Given the description of an element on the screen output the (x, y) to click on. 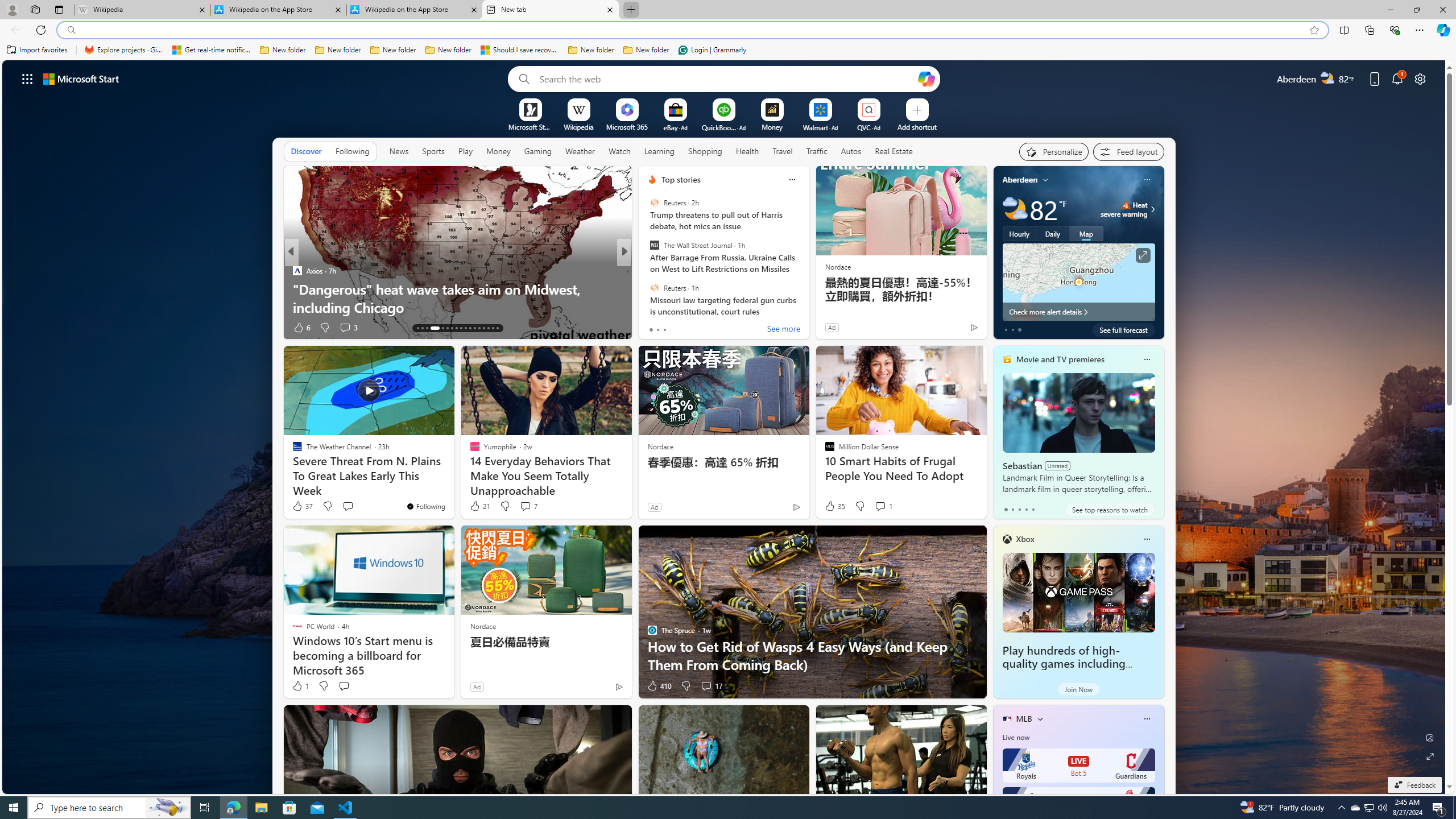
View comments 4 Comment (703, 327)
AutomationID: tab-23 (470, 328)
Favorites bar (728, 49)
Reuters (654, 287)
See full forecast (1123, 329)
Aberdeen (1019, 179)
View comments 17 Comment (710, 685)
View comments 33 Comment (707, 327)
AutomationID: tab-15 (426, 328)
 UPI News (647, 270)
